Given the description of an element on the screen output the (x, y) to click on. 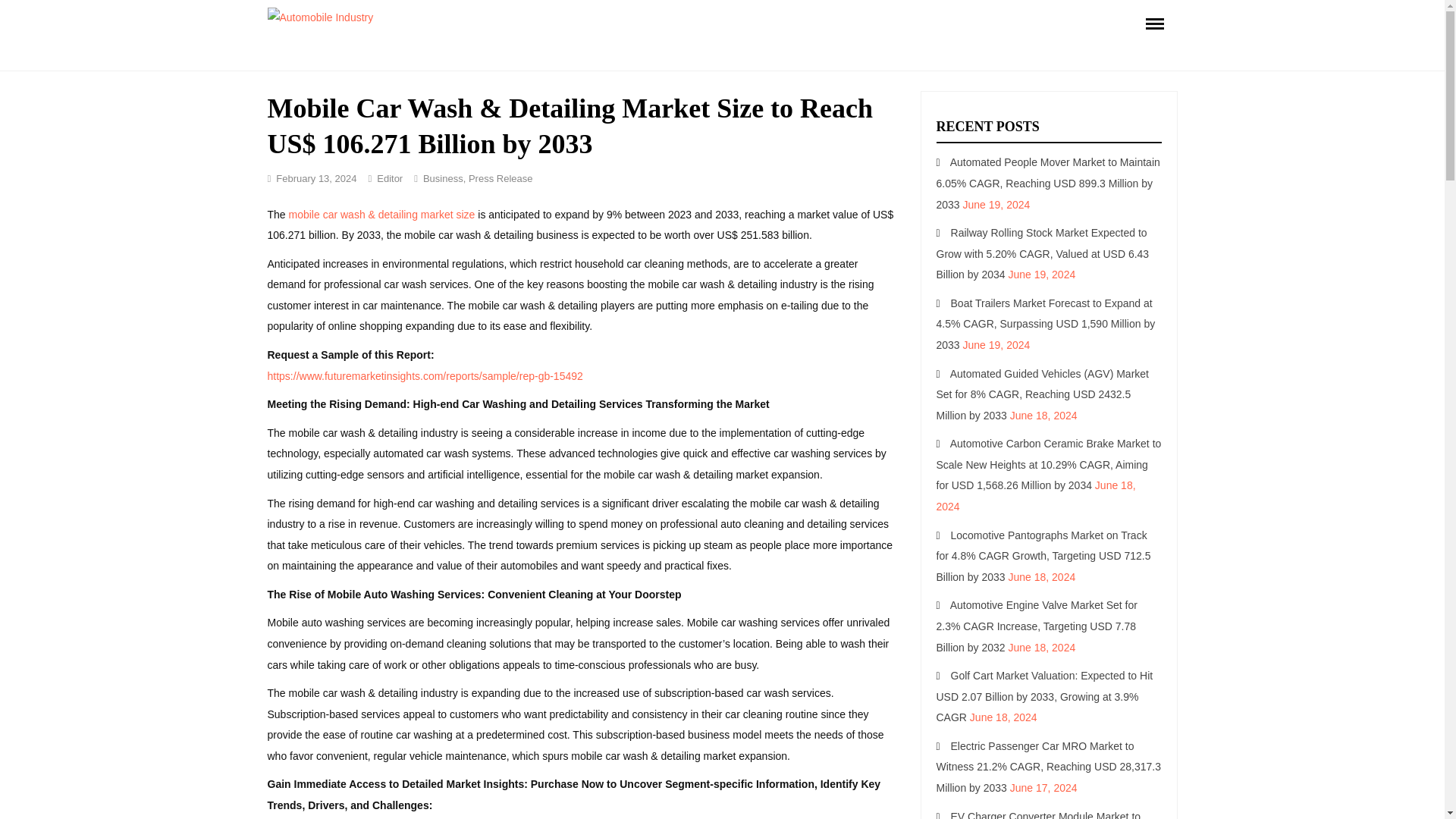
February 13, 2024 (316, 178)
Press Release (500, 178)
Editor (390, 178)
Business (443, 178)
Menu (1153, 22)
